Given the description of an element on the screen output the (x, y) to click on. 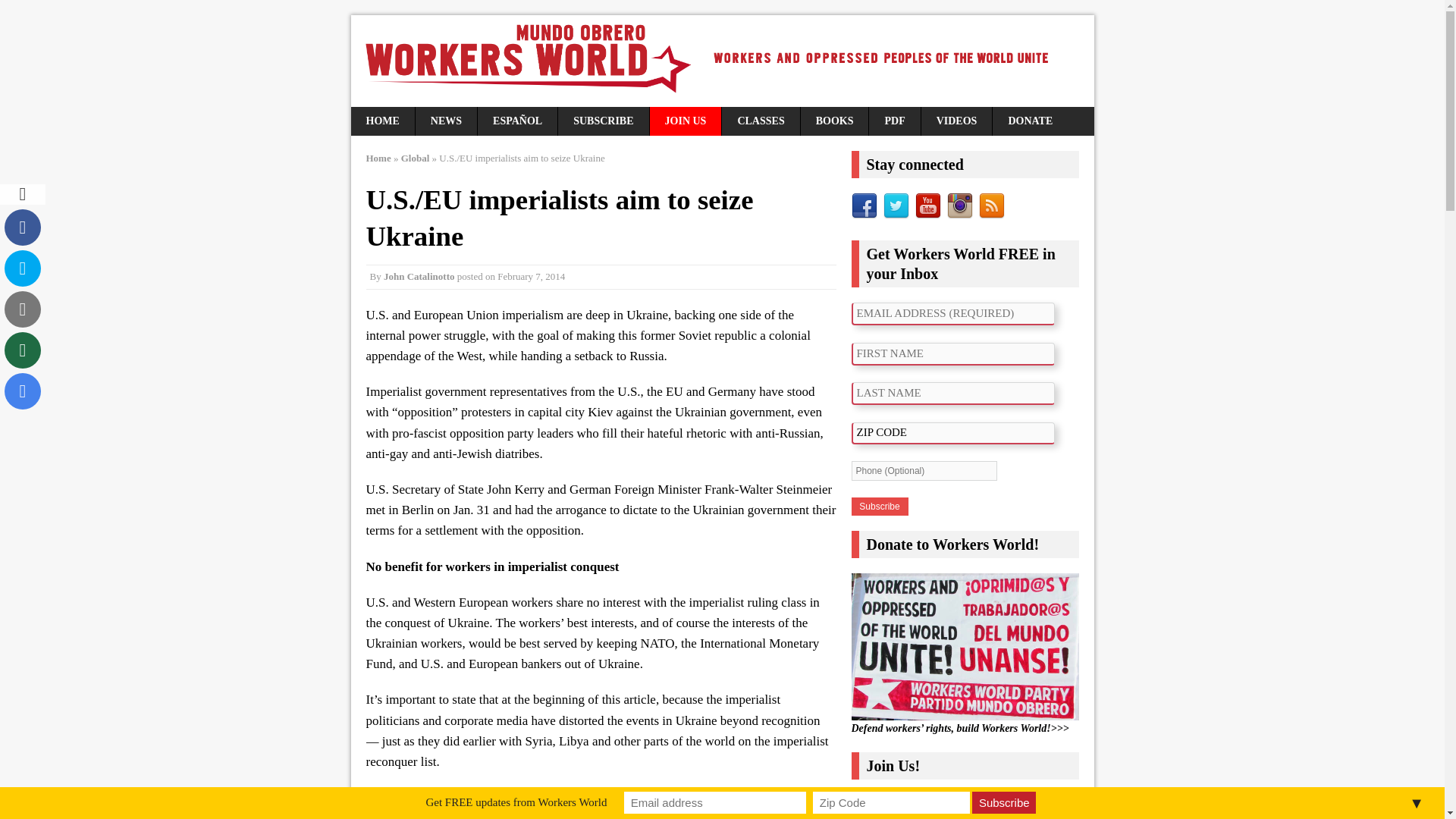
Subscribe (1003, 802)
Subscribe (878, 506)
Workers World (721, 61)
